Given the description of an element on the screen output the (x, y) to click on. 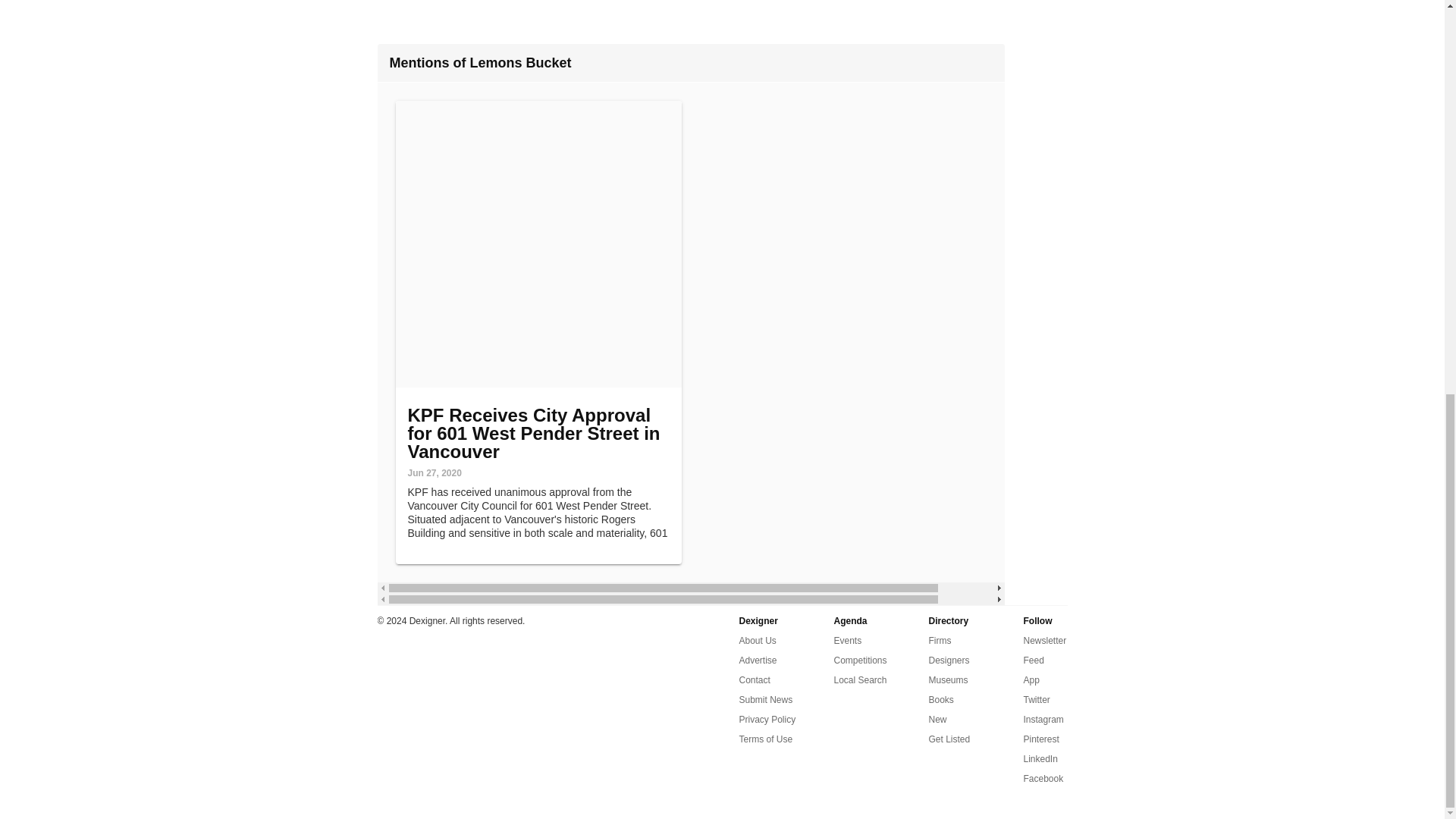
Contact (754, 679)
Local Search (860, 679)
Books (940, 700)
Museums (948, 679)
Advertise (757, 660)
Designers (948, 660)
Competitions (860, 660)
Events (847, 640)
Privacy Policy (766, 719)
Firms (939, 640)
